Given the description of an element on the screen output the (x, y) to click on. 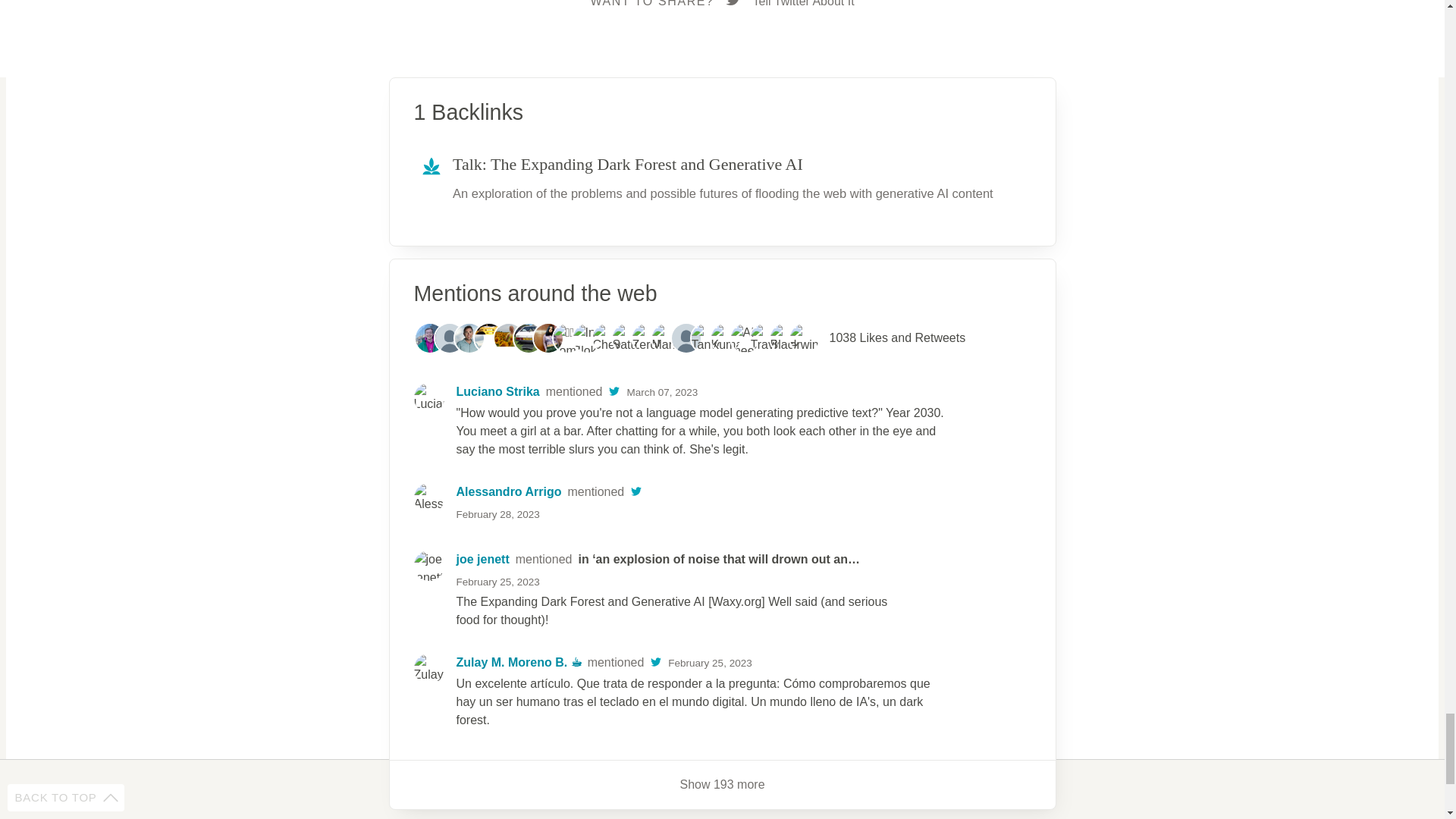
Show 193 more (584, 502)
Tell Twitter About It (703, 392)
